Given the description of an element on the screen output the (x, y) to click on. 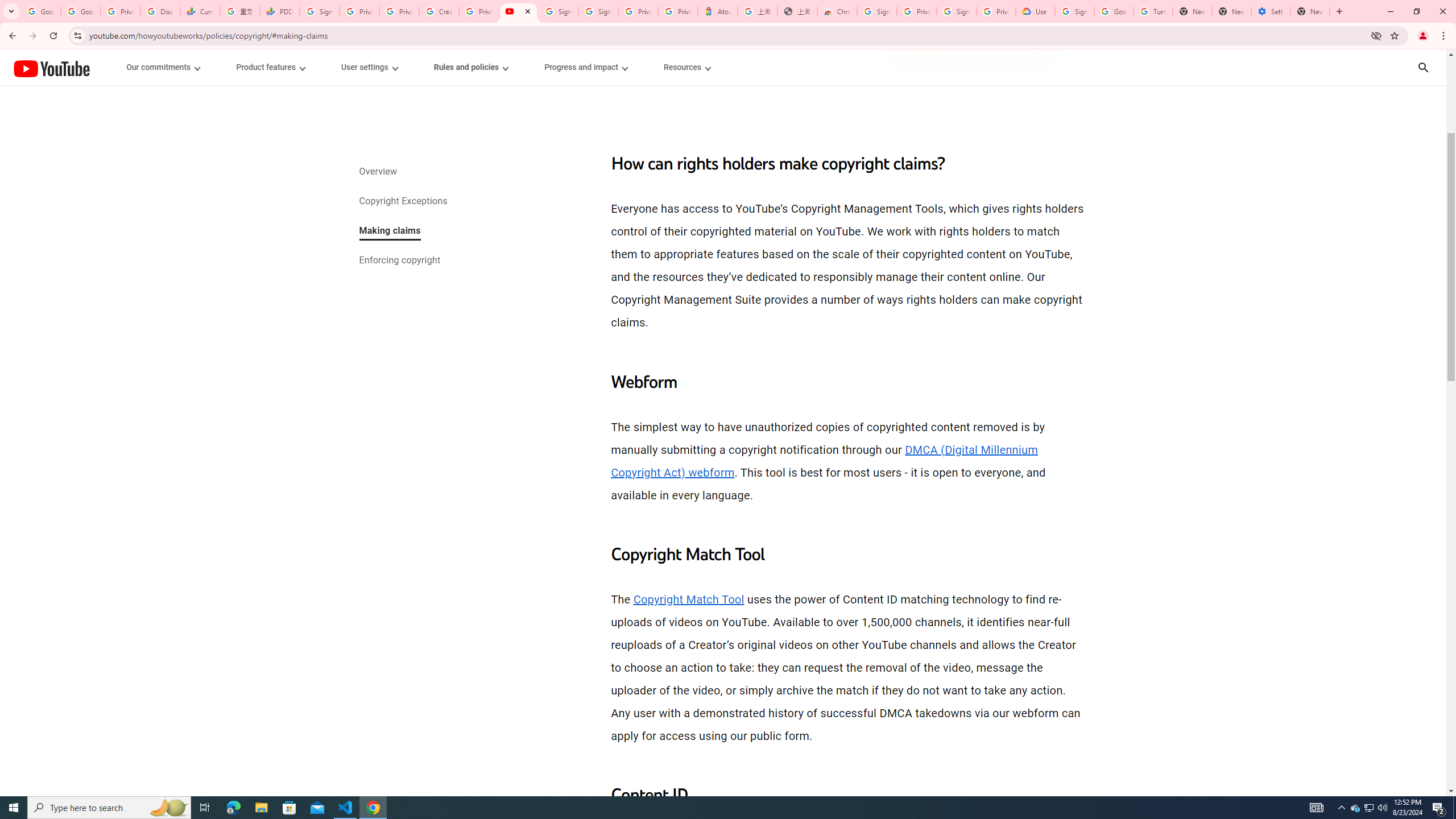
Progress and impact menupopup (585, 67)
How YouTube Works (51, 66)
Privacy Checkup (398, 11)
Product features menupopup (269, 67)
Rules and policies menupopup (470, 67)
